Given the description of an element on the screen output the (x, y) to click on. 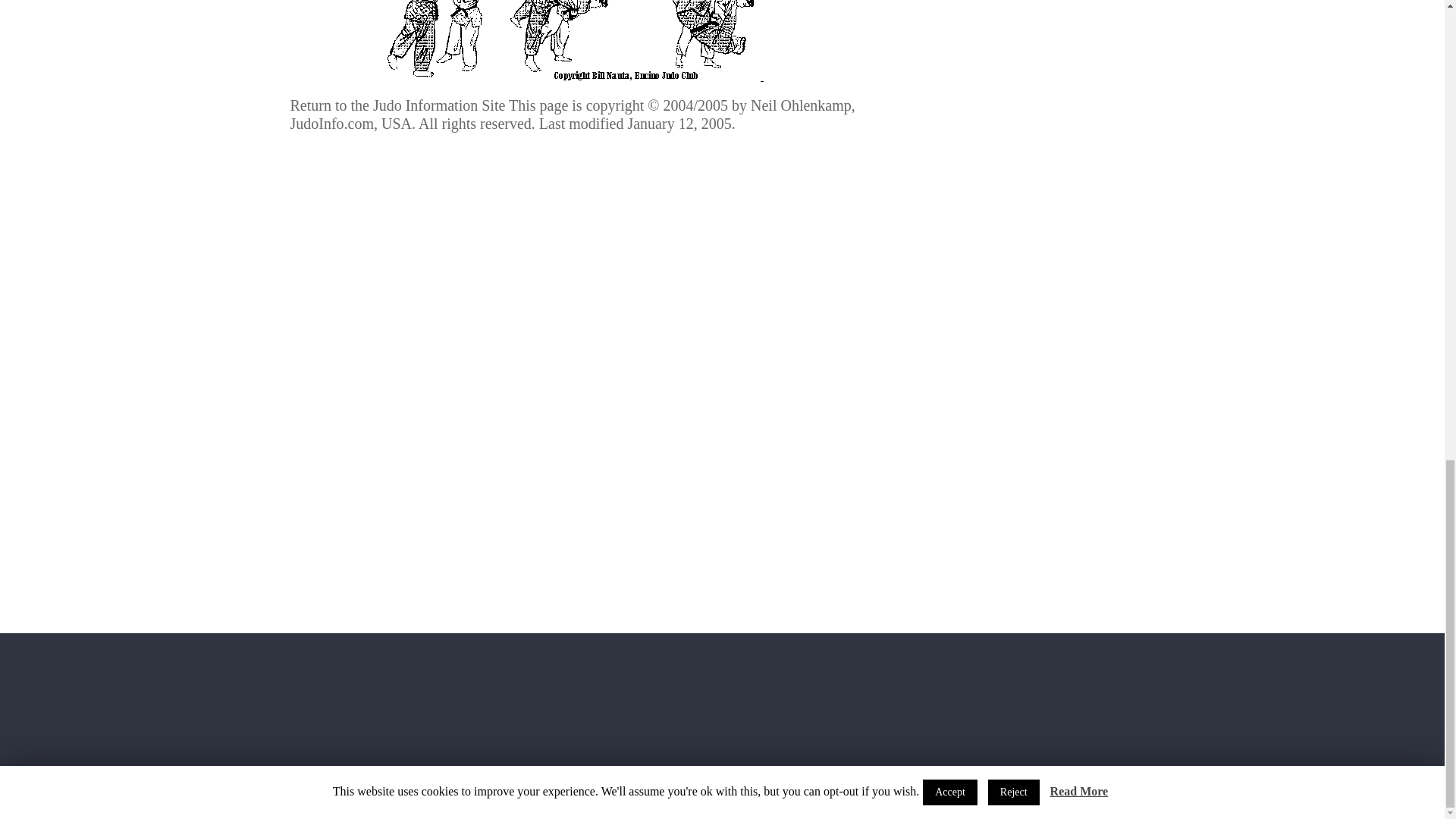
Judo Info (389, 773)
Advertisement (574, 291)
Judo Info (389, 773)
